Given the description of an element on the screen output the (x, y) to click on. 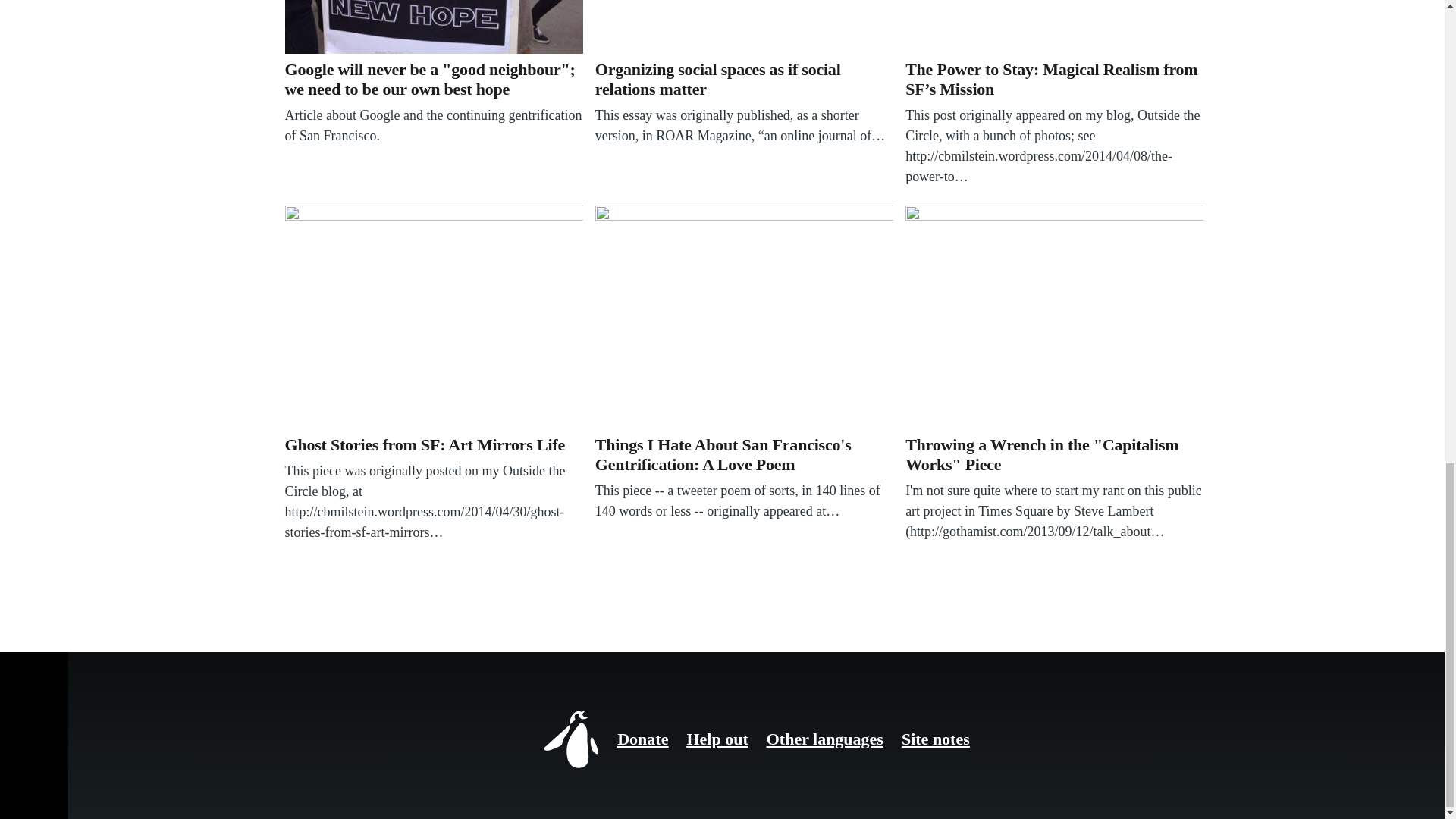
libcom content in languages other than English (825, 738)
Load more items (316, 614)
Help out (716, 738)
Load More (316, 614)
Donate (642, 738)
Other languages (825, 738)
Site notes (935, 738)
